Given the description of an element on the screen output the (x, y) to click on. 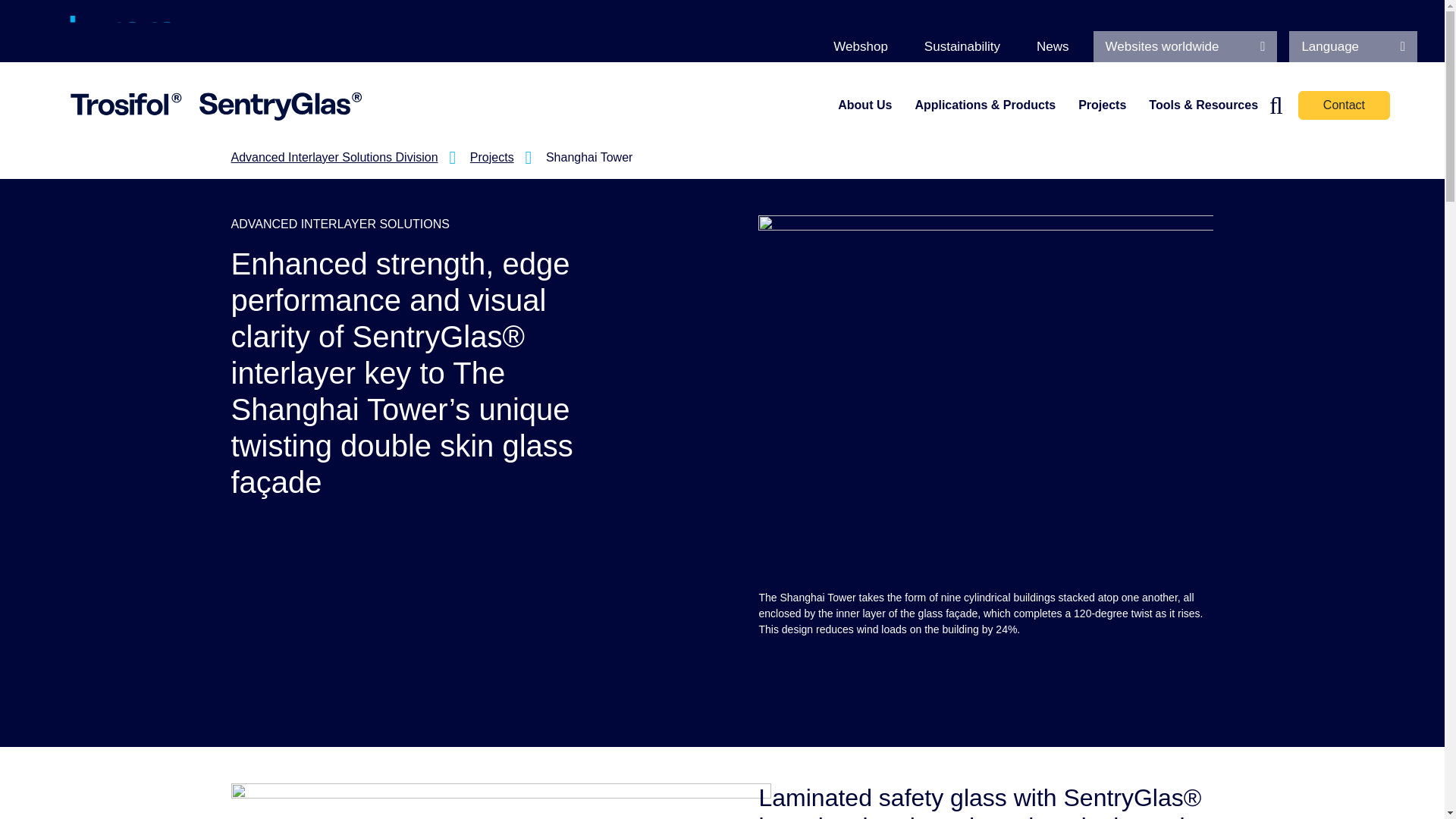
Websites worldwide (1185, 47)
Webshop (860, 47)
News (1053, 47)
Sustainability (961, 47)
Language (1352, 47)
